Given the description of an element on the screen output the (x, y) to click on. 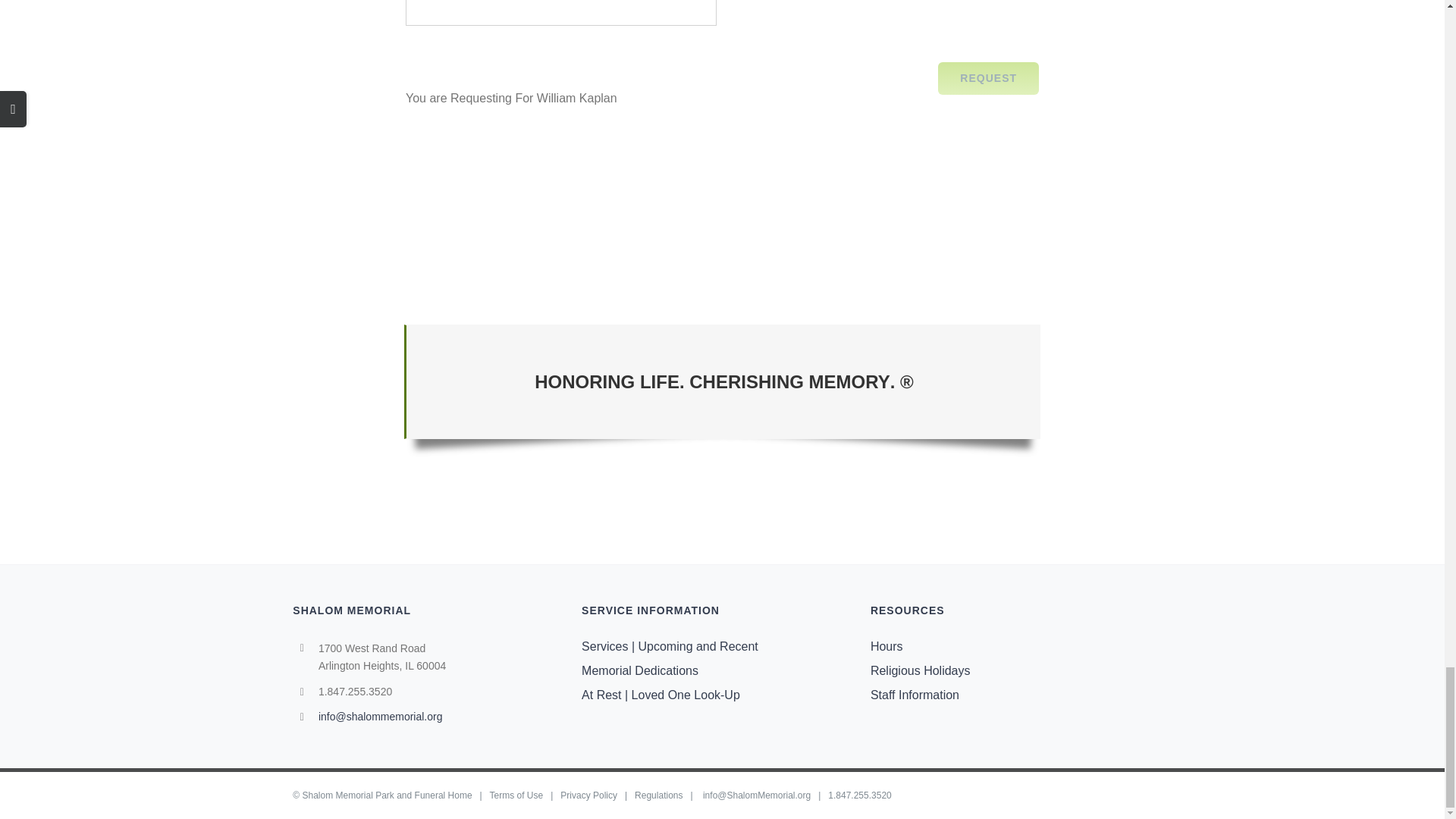
Request (988, 78)
